Given the description of an element on the screen output the (x, y) to click on. 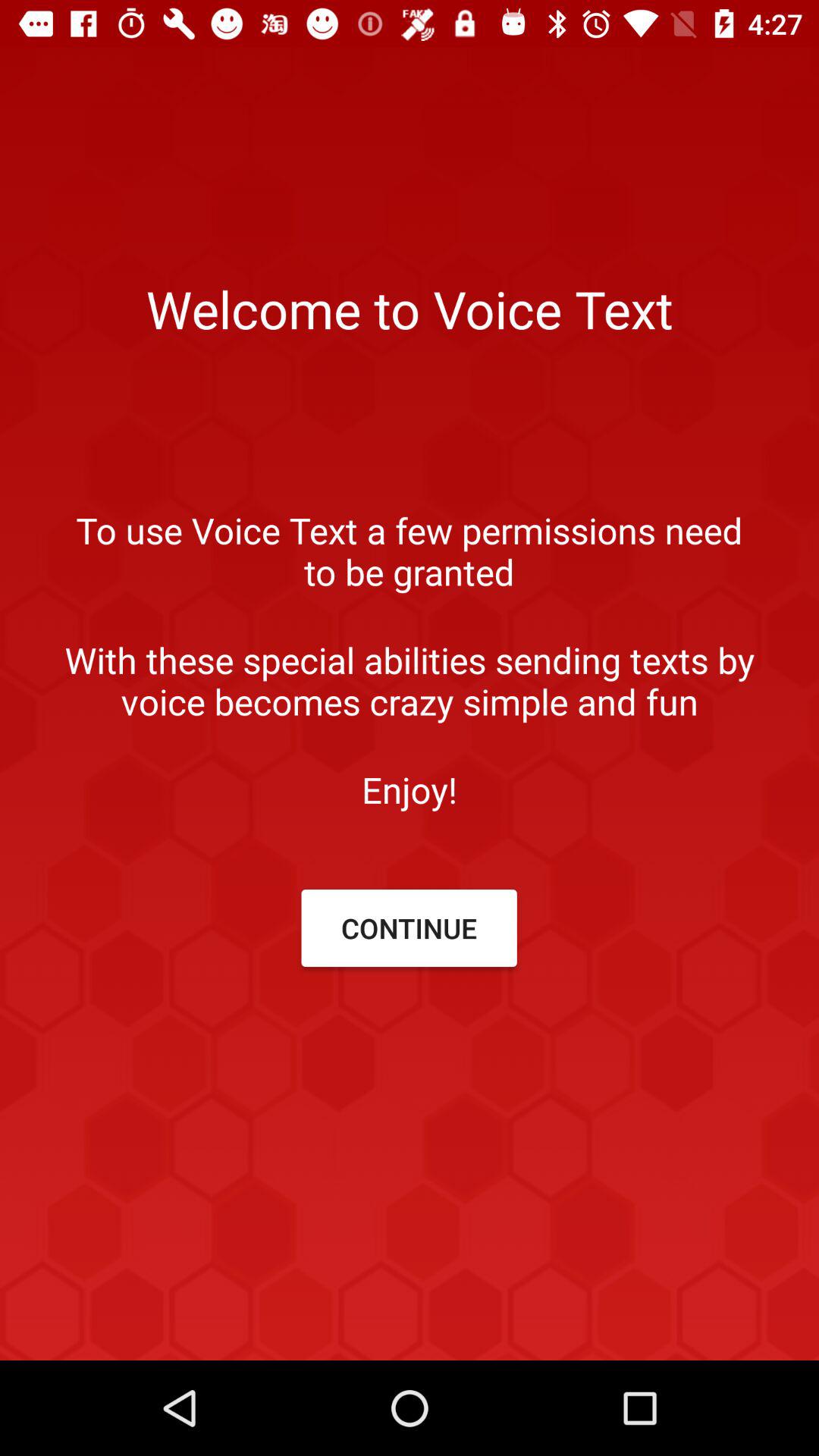
flip to the continue icon (408, 927)
